Given the description of an element on the screen output the (x, y) to click on. 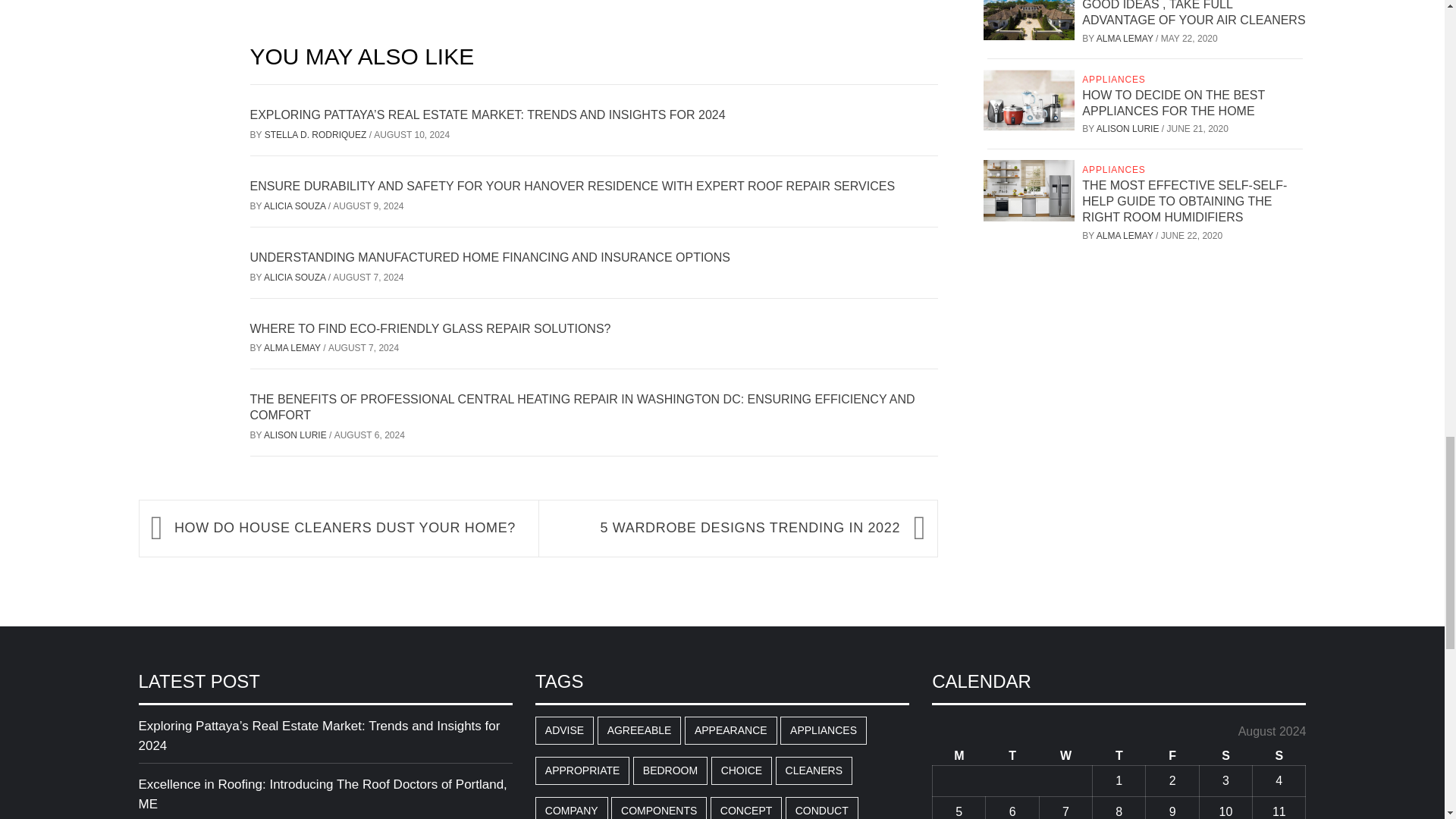
Saturday (1225, 755)
ALICIA SOUZA (296, 276)
Tuesday (1012, 755)
Monday (959, 755)
STELLA D. RODRIQUEZ (316, 134)
Thursday (1119, 755)
Wednesday (1065, 755)
ALICIA SOUZA (296, 205)
